Given the description of an element on the screen output the (x, y) to click on. 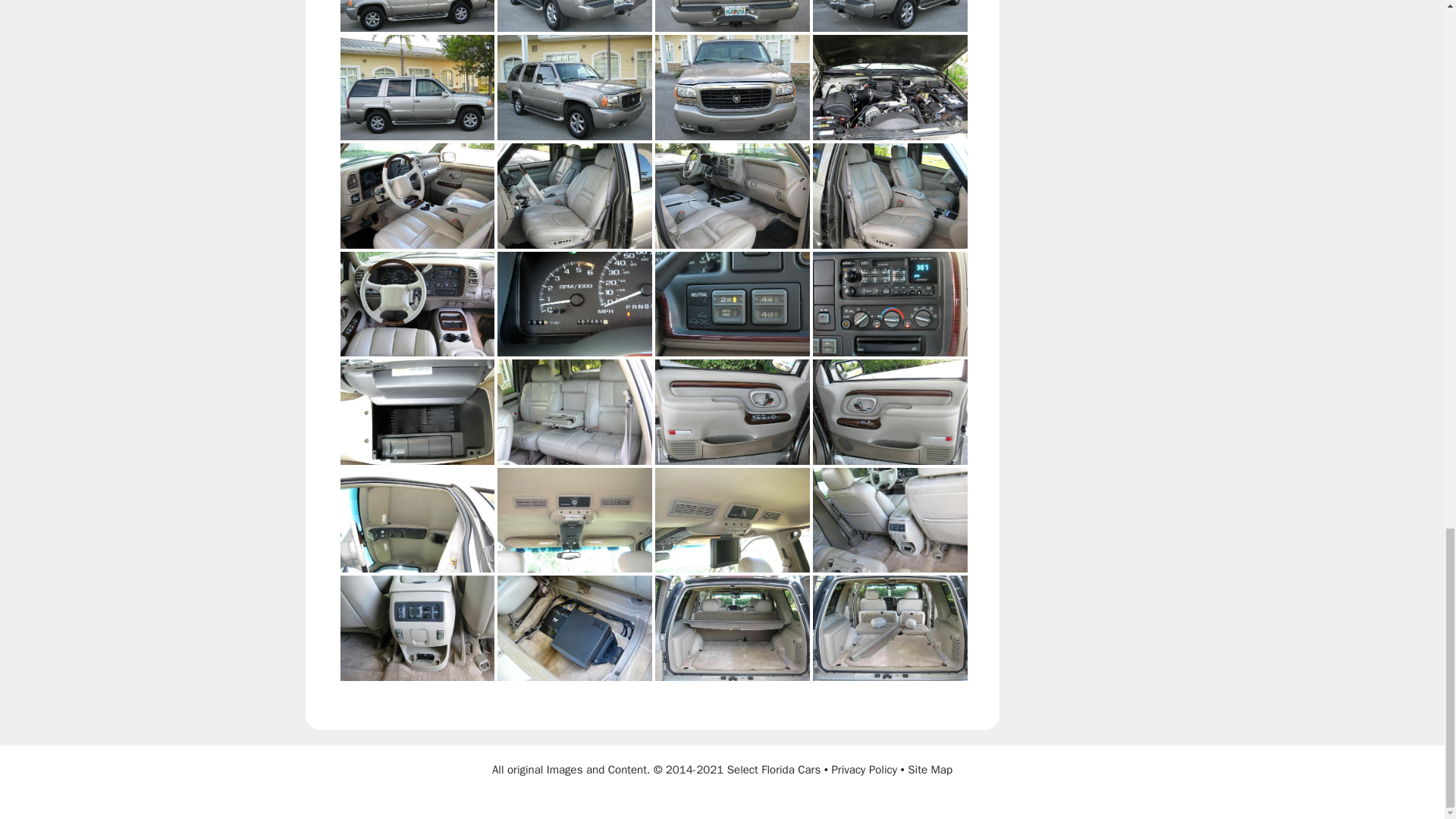
Cadillac Escalade Steering Wheel (417, 303)
Cadillac Escalade 5.7 V8 Engine (890, 87)
